Given the description of an element on the screen output the (x, y) to click on. 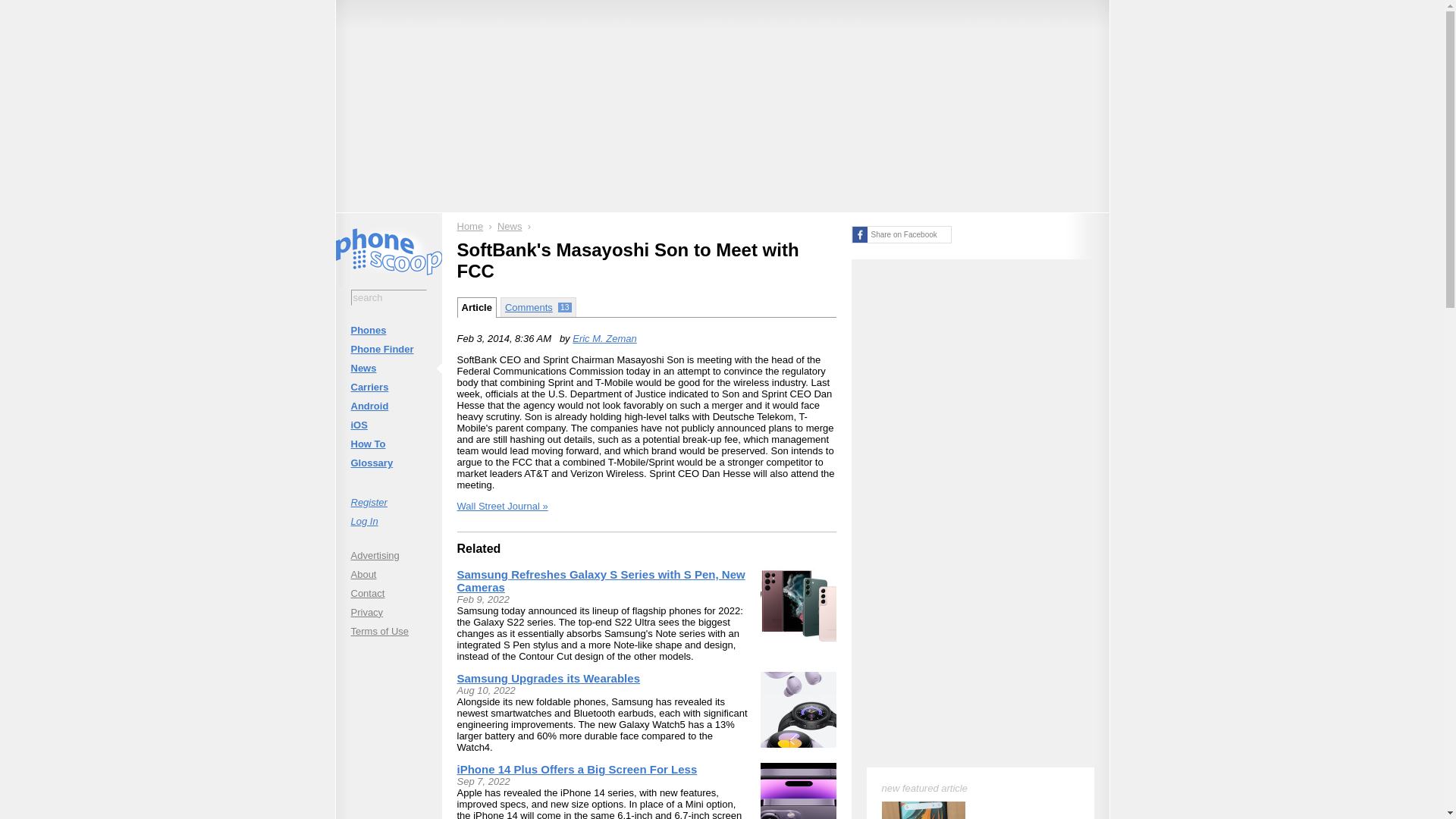
About (387, 573)
News (509, 225)
Register (387, 502)
Comments  13 (538, 306)
Related (478, 548)
Terms of Use (387, 630)
Phone Finder (387, 348)
News (387, 367)
Advertising (387, 555)
Privacy (387, 610)
Android (387, 405)
search (388, 297)
Home (470, 225)
Contact (387, 592)
